Given the description of an element on the screen output the (x, y) to click on. 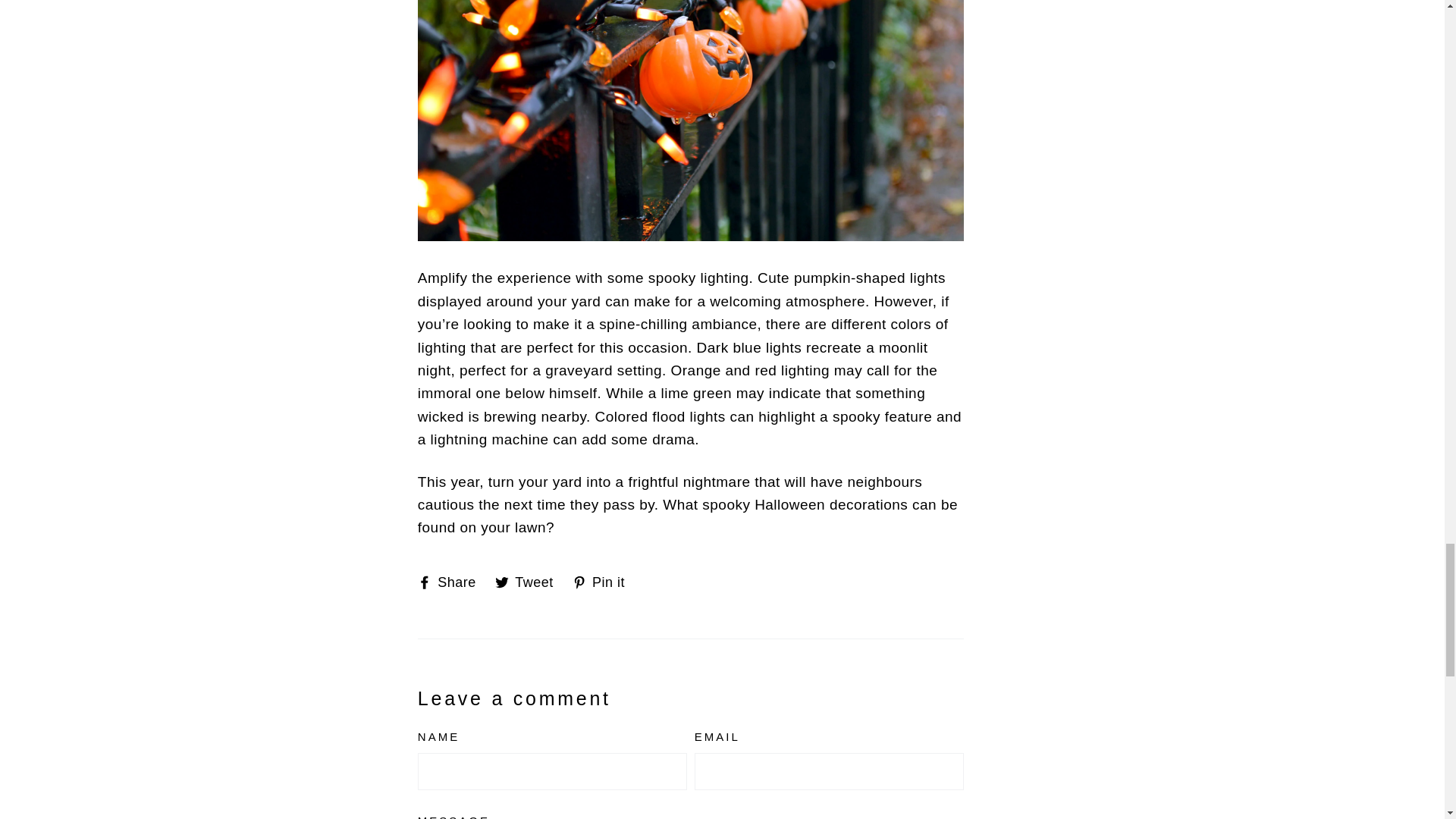
Pin on Pinterest (604, 581)
Tweet on Twitter (604, 581)
Share on Facebook (529, 581)
